Given the description of an element on the screen output the (x, y) to click on. 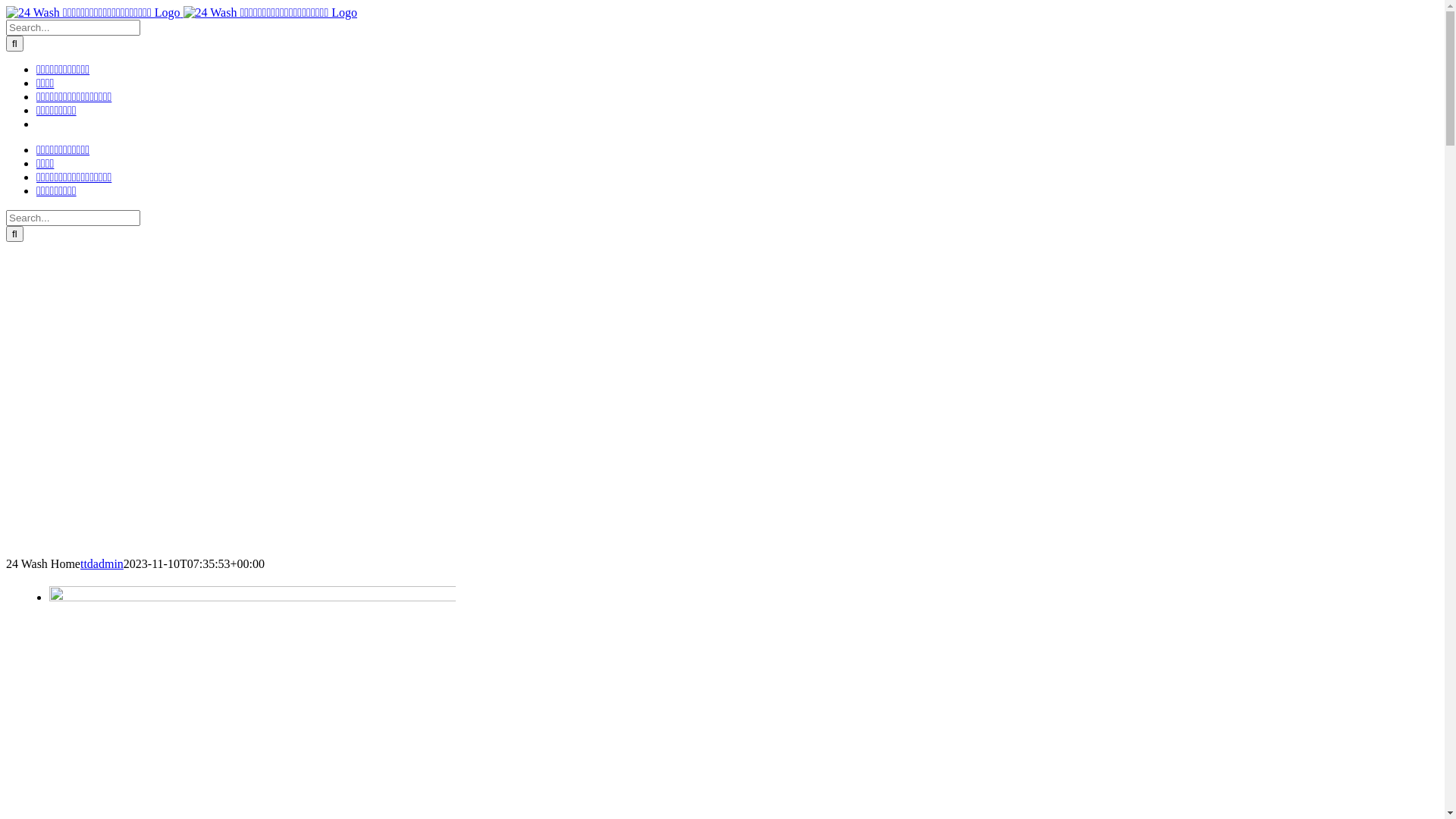
ttdadmin Element type: text (101, 563)
Skip to content Element type: text (5, 5)
